Given the description of an element on the screen output the (x, y) to click on. 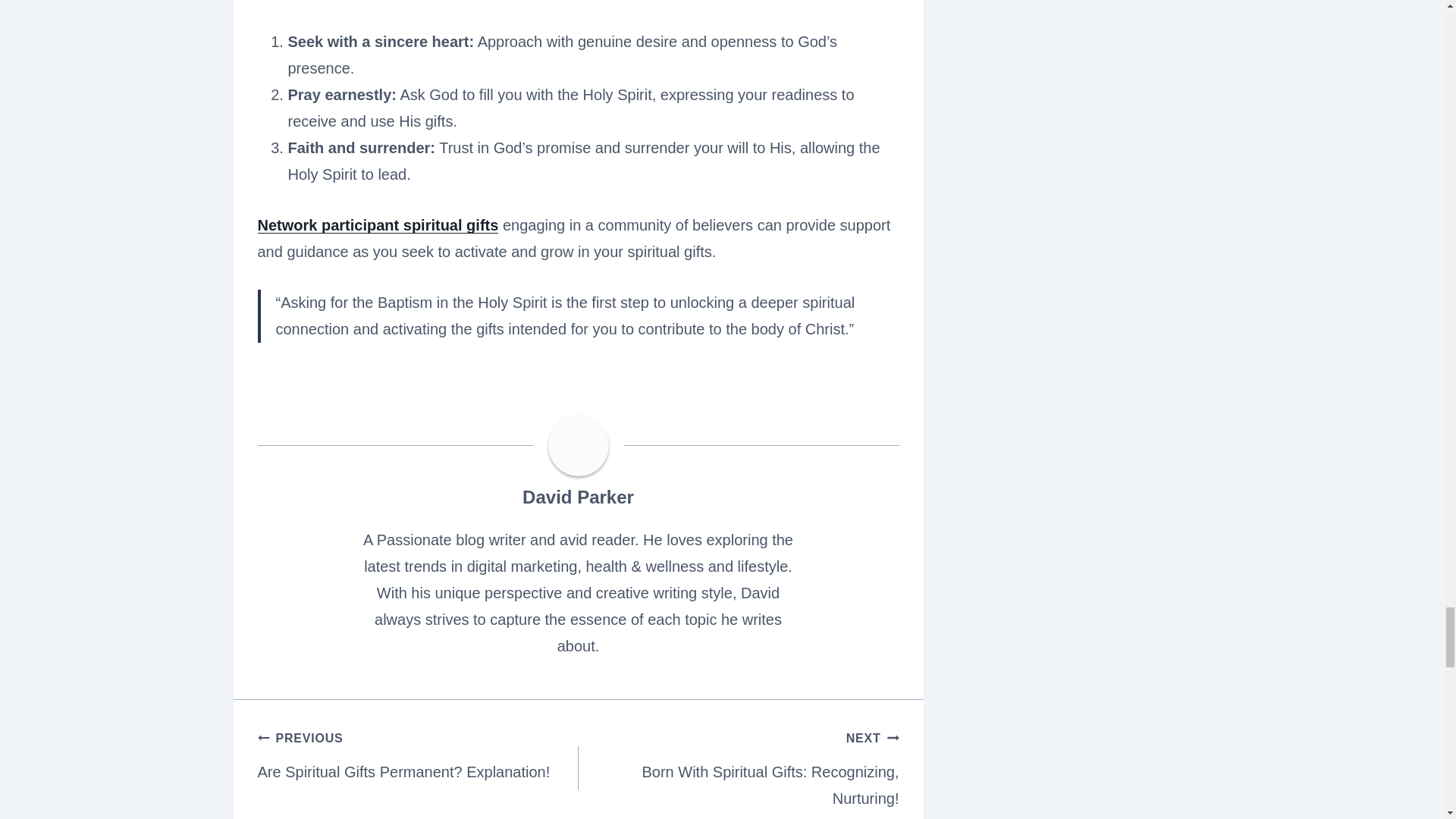
David Parker (577, 496)
Network participant spiritual gifts (378, 225)
